Given the description of an element on the screen output the (x, y) to click on. 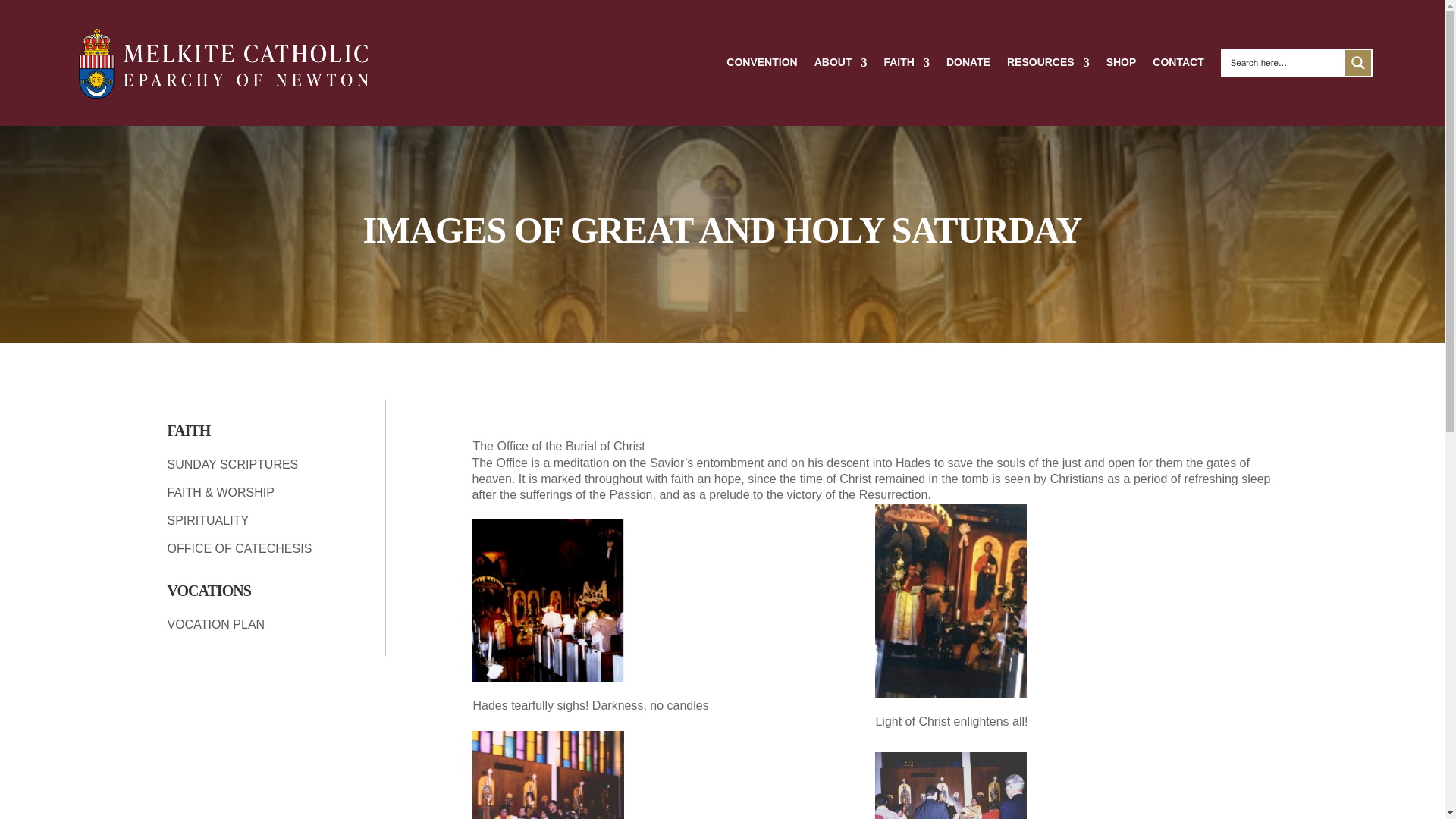
RESOURCES (1048, 62)
